Given the description of an element on the screen output the (x, y) to click on. 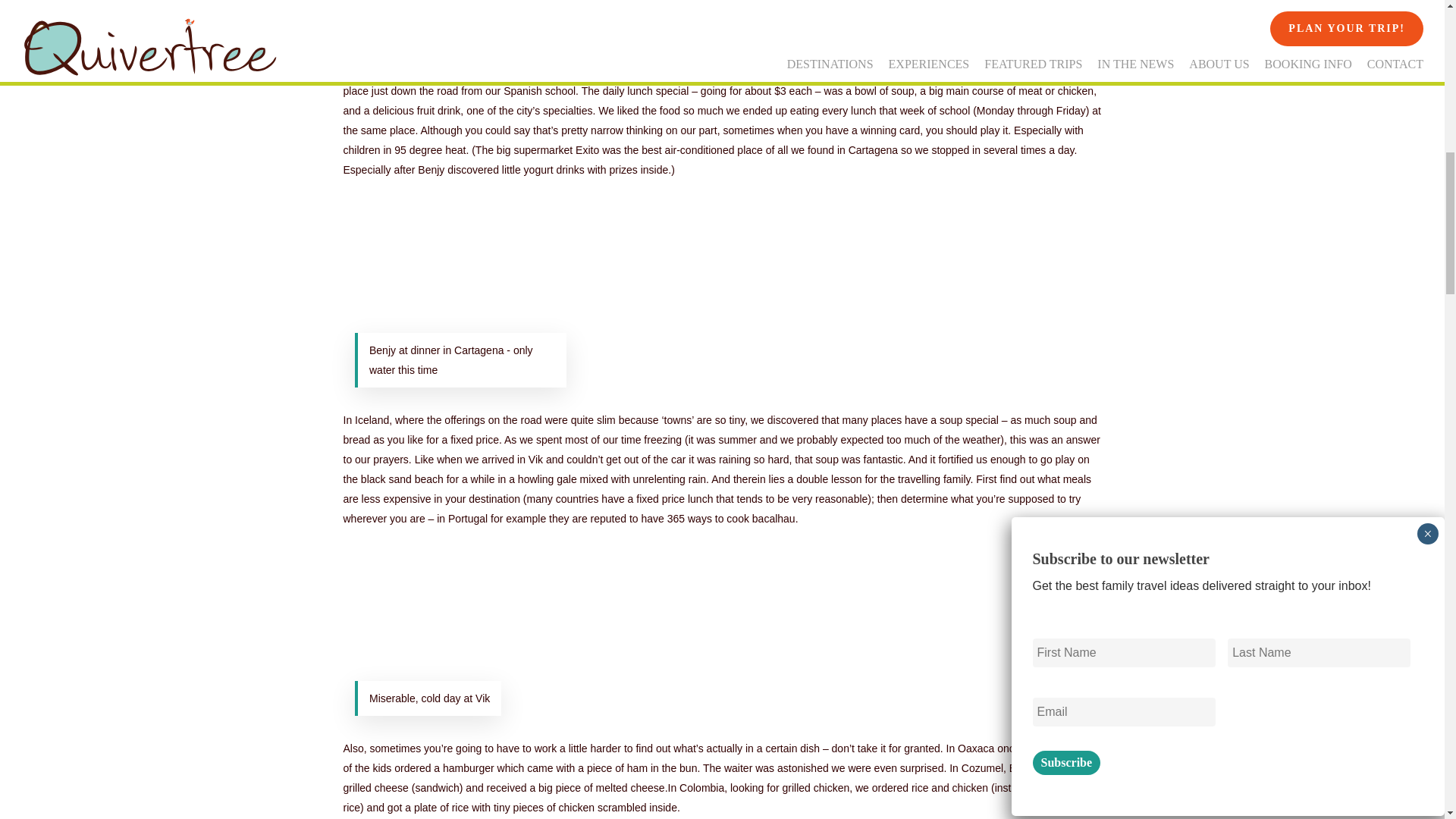
P1050909 (460, 273)
P1060060 (460, 622)
P1040488 (460, 1)
